Given the description of an element on the screen output the (x, y) to click on. 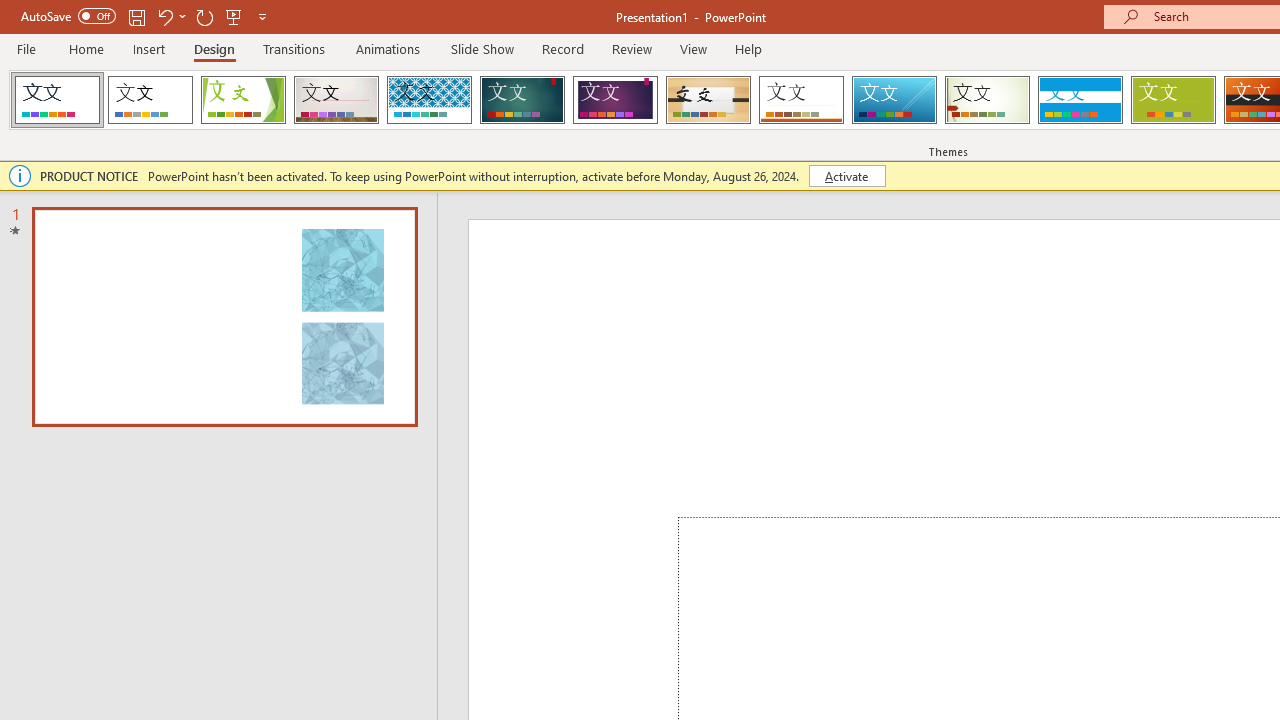
Facet (243, 100)
Ion (522, 100)
Slice (893, 100)
Insert (149, 48)
Quick Access Toolbar (145, 16)
Undo (170, 15)
Basis (1172, 100)
Save (136, 15)
Ion Boardroom (615, 100)
AutoSave (68, 16)
More Options (182, 15)
Animations (388, 48)
Office Theme (150, 100)
Home (86, 48)
